Given the description of an element on the screen output the (x, y) to click on. 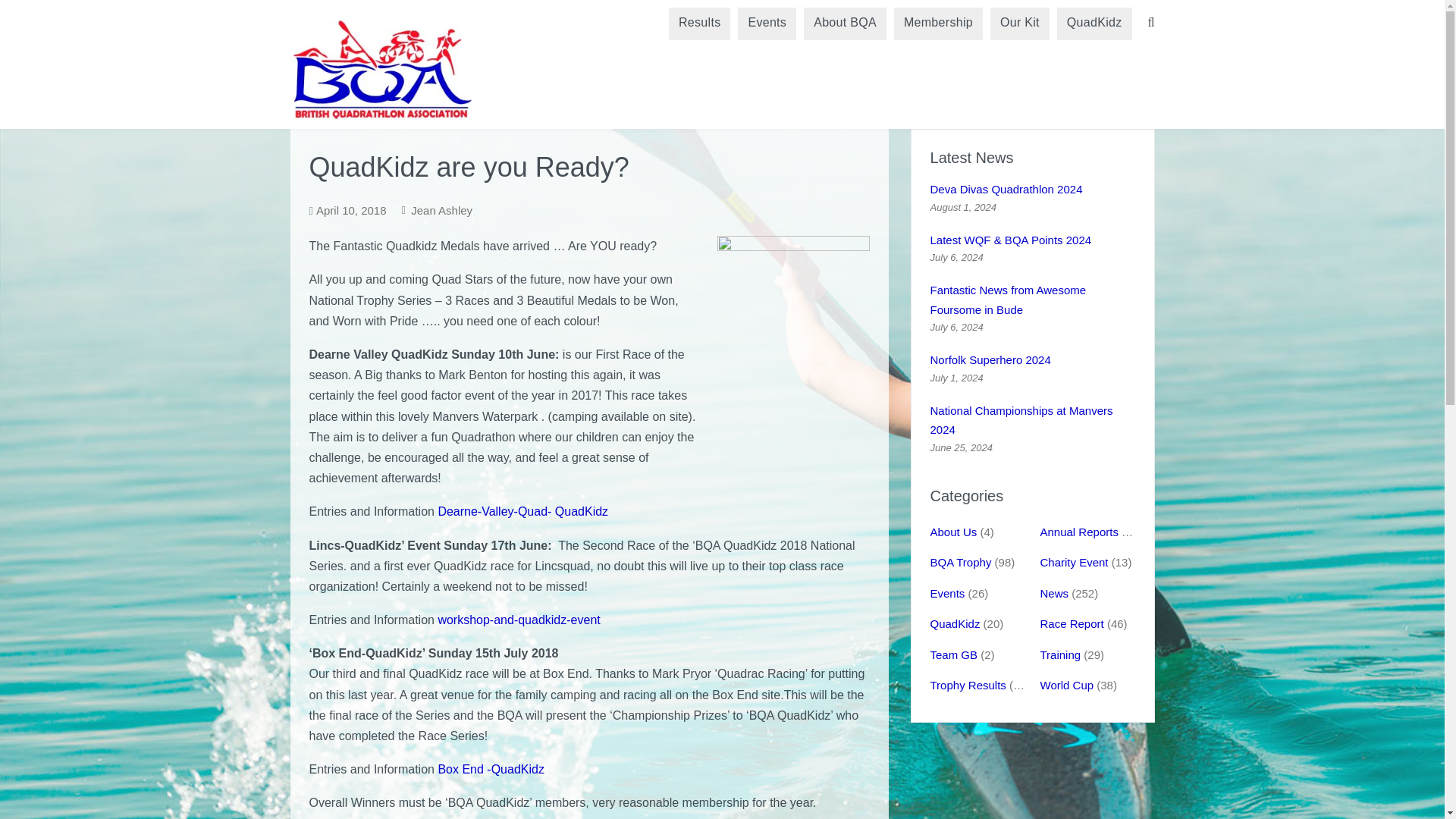
Results (699, 23)
About BQA (844, 23)
Events (767, 23)
Permalink to QuadKidz are you Ready? (351, 210)
